Given the description of an element on the screen output the (x, y) to click on. 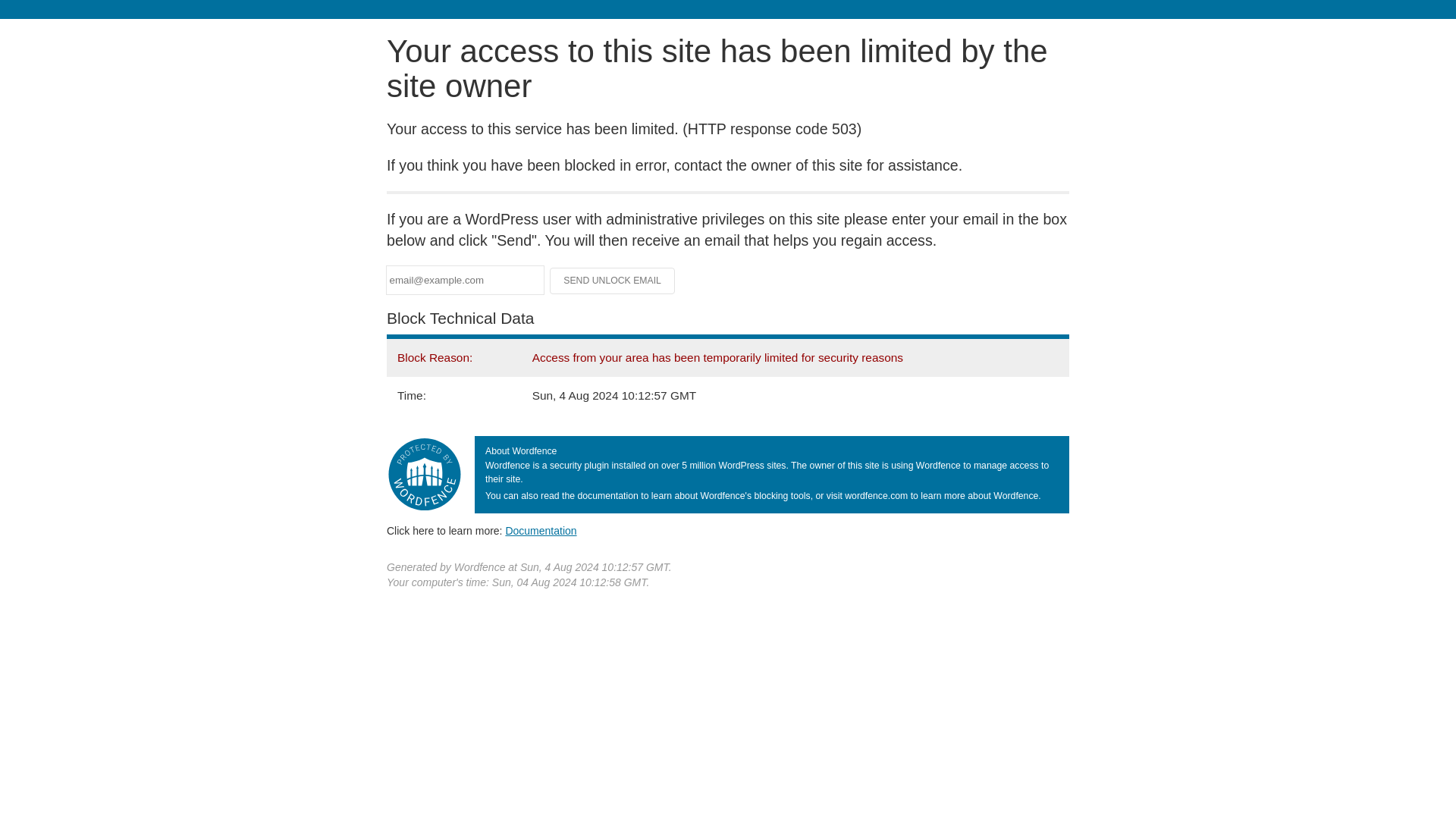
Send Unlock Email (612, 280)
Send Unlock Email (612, 280)
